Given the description of an element on the screen output the (x, y) to click on. 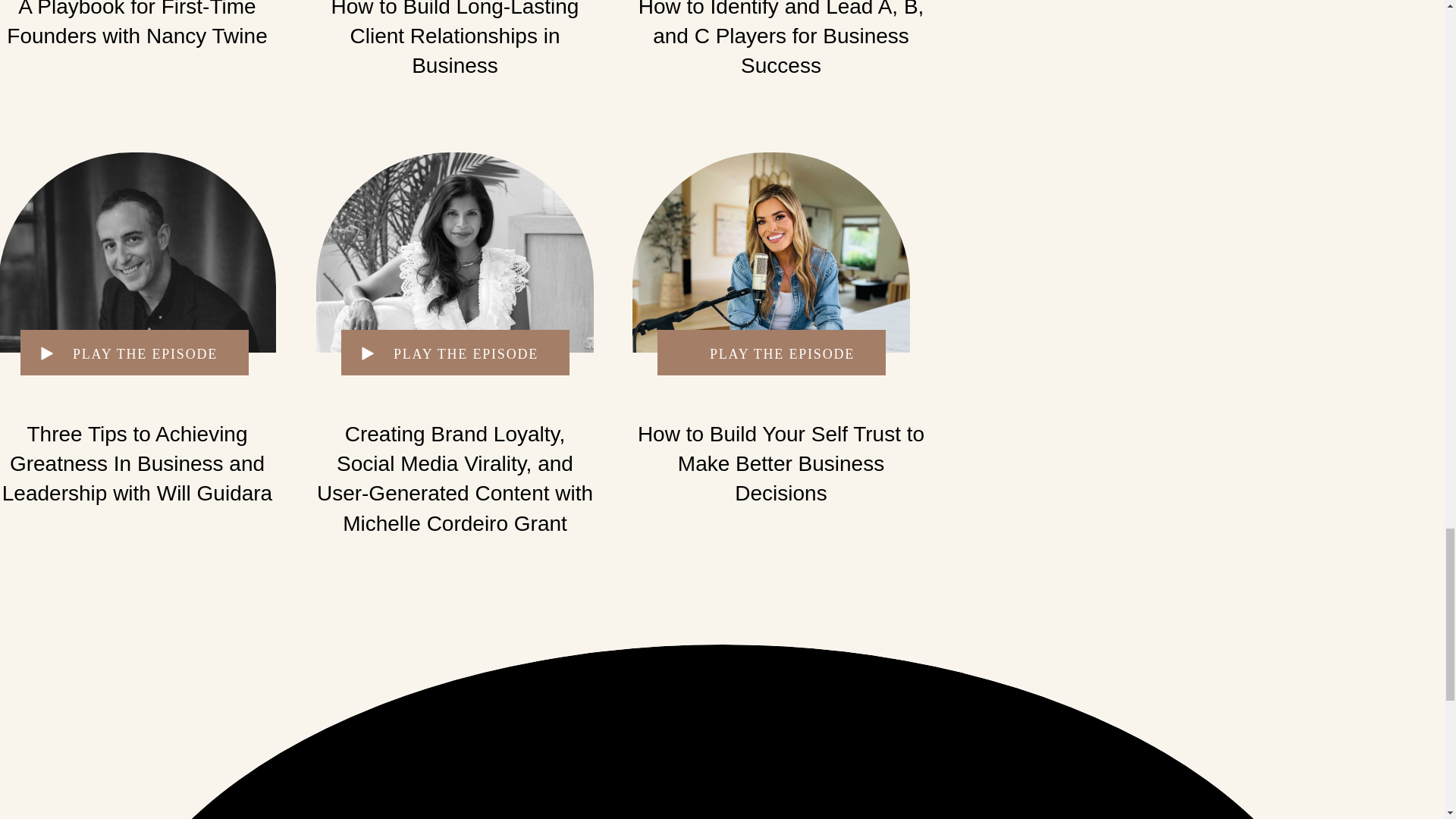
PLAY THE EPISODE (465, 352)
How to Build Long-Lasting Client Relationships in Business (455, 38)
